Given the description of an element on the screen output the (x, y) to click on. 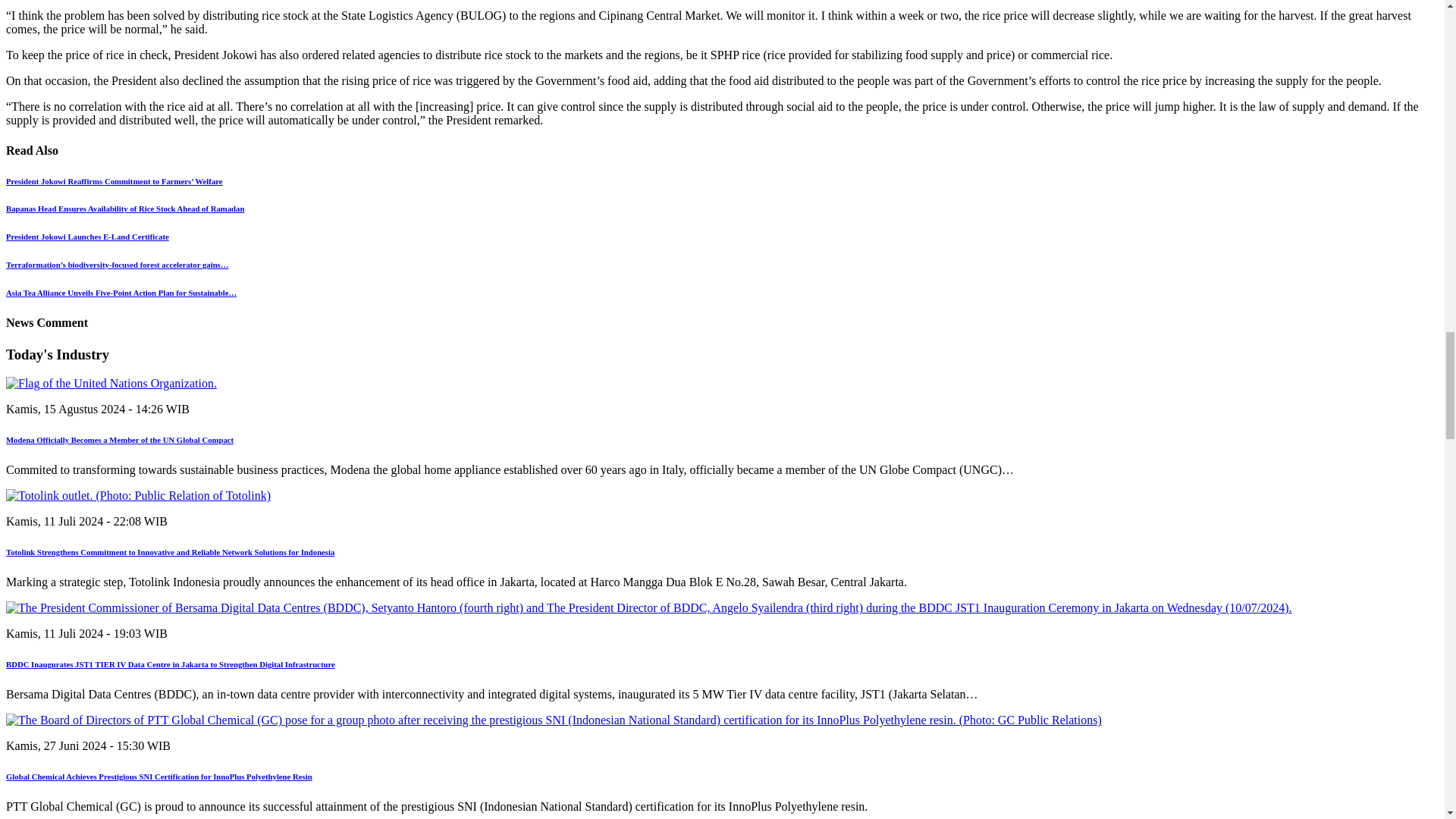
President Jokowi Launches E-Land Certificate  (86, 235)
